Given the description of an element on the screen output the (x, y) to click on. 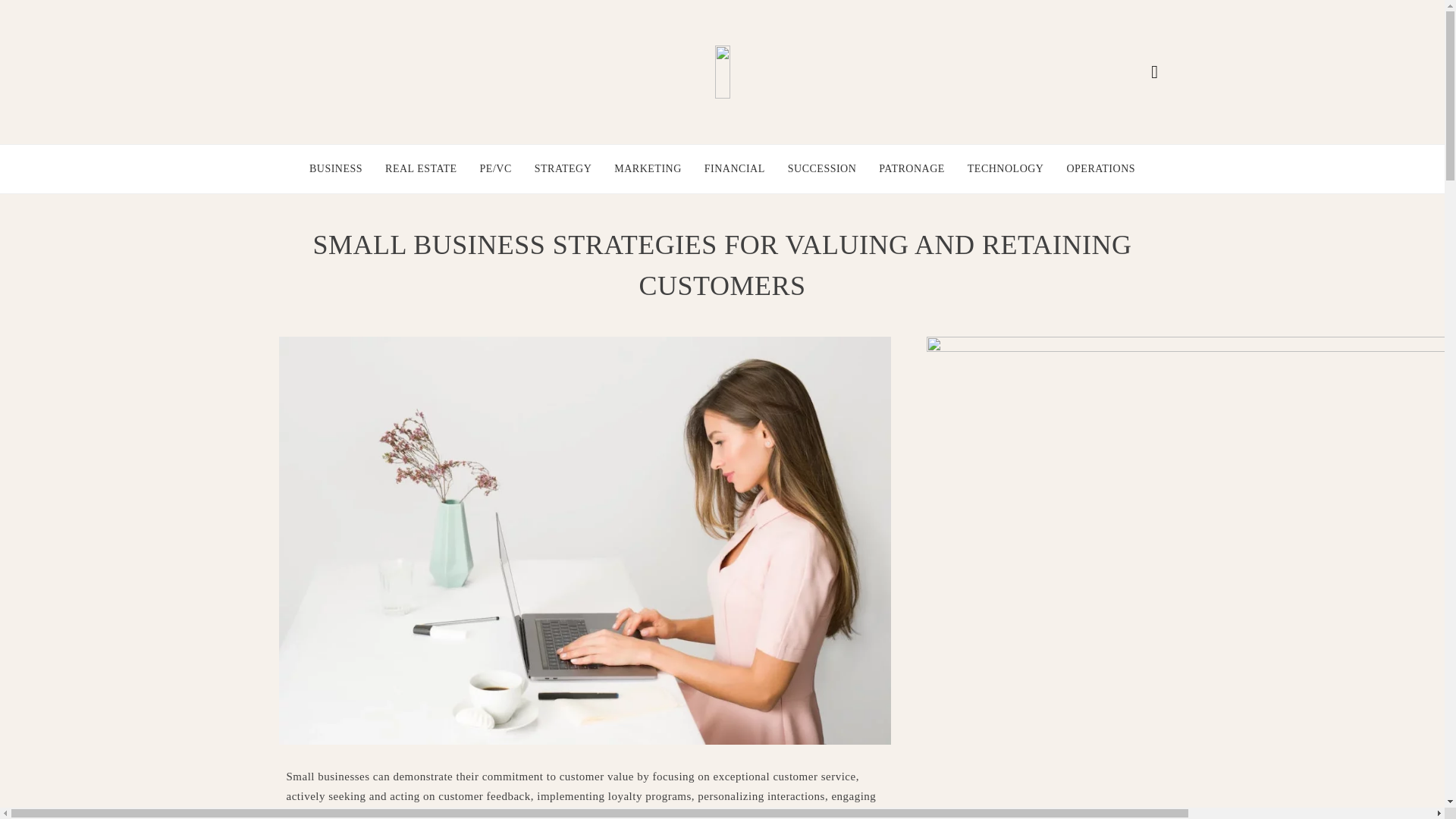
PATRONAGE (911, 168)
MARKETING (647, 168)
BUSINESS (335, 168)
FINANCIAL (734, 168)
TECHNOLOGY (1005, 168)
SUCCESSION (822, 168)
STRATEGY (563, 168)
REAL ESTATE (421, 168)
OPERATIONS (1100, 168)
